Given the description of an element on the screen output the (x, y) to click on. 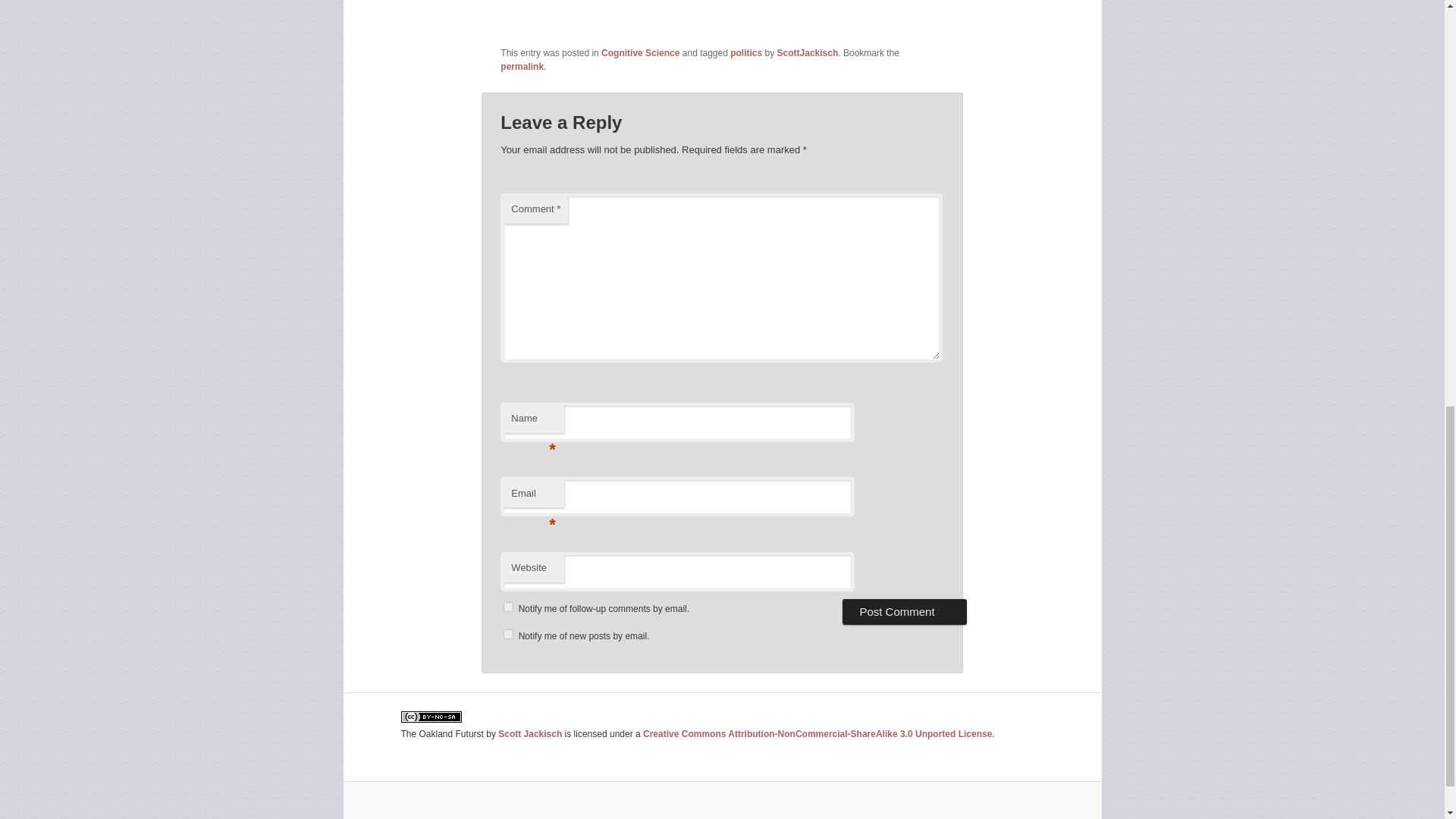
Post Comment (904, 611)
ScottJackisch (807, 52)
Semantic Personal Publishing Platform (722, 810)
politics (745, 52)
subscribe (508, 634)
Cognitive Science (640, 52)
Scott Jackisch (529, 733)
permalink (521, 66)
Post Comment (904, 611)
